Given the description of an element on the screen output the (x, y) to click on. 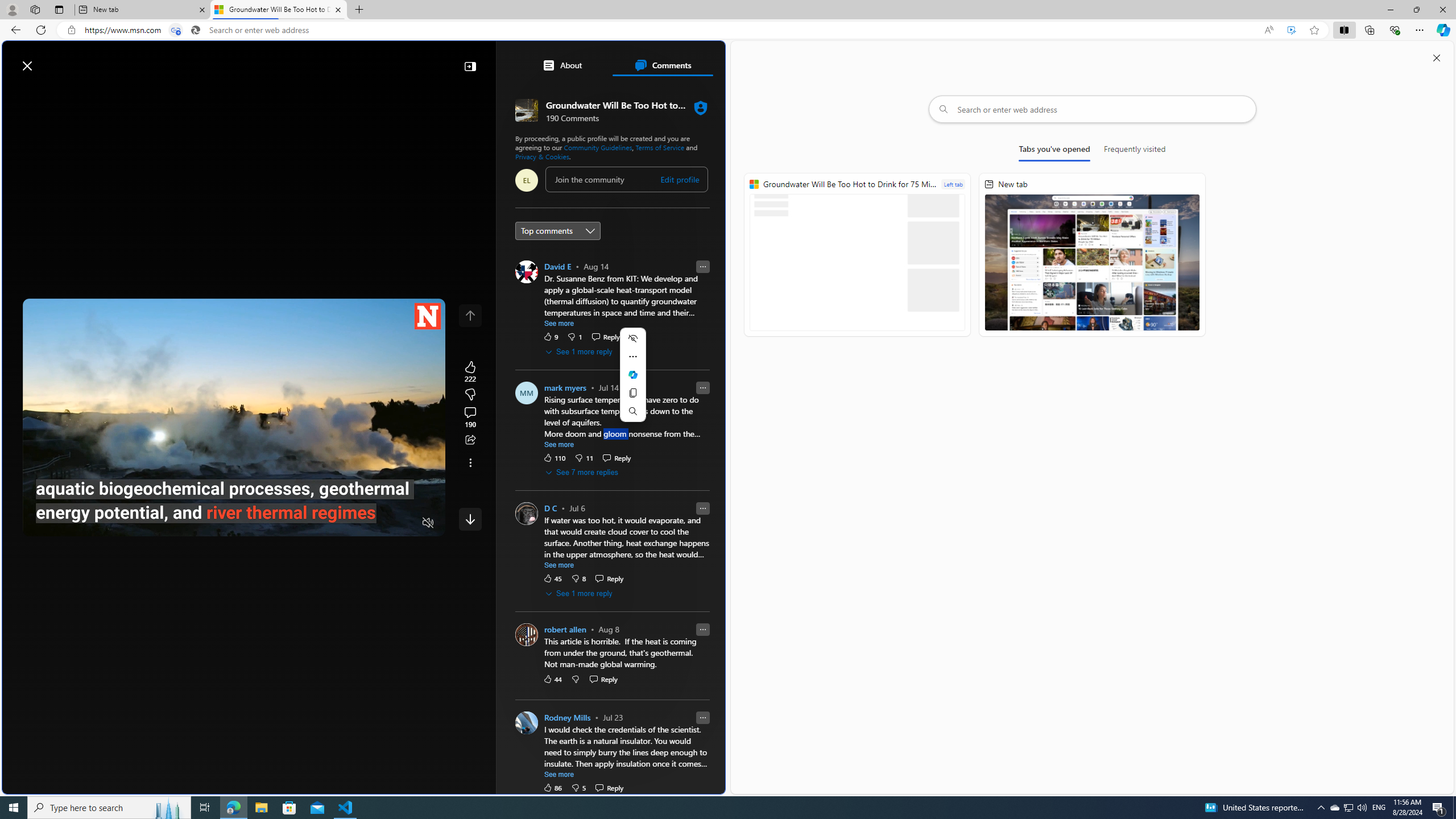
robert allen (564, 629)
See 7 more replies (582, 472)
D C (550, 508)
9 Like (550, 336)
Class: control icon-only (469, 315)
86 Like (552, 787)
